Given the description of an element on the screen output the (x, y) to click on. 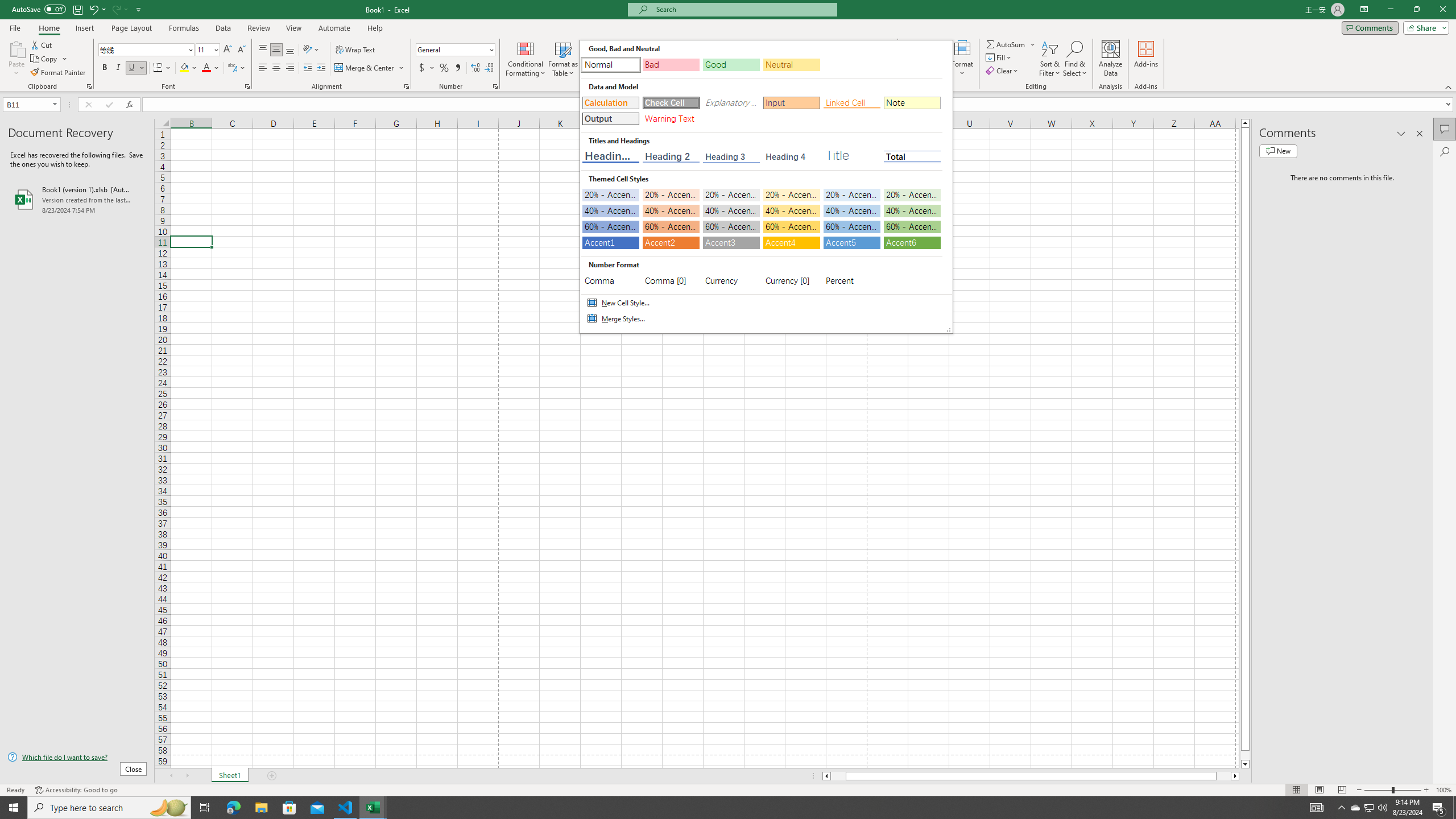
Borders (162, 67)
Increase Indent (320, 67)
Start (13, 807)
Merge & Center (365, 67)
Q2790: 100% (1382, 807)
Format Cell Font (247, 85)
Microsoft Edge (233, 807)
